Given the description of an element on the screen output the (x, y) to click on. 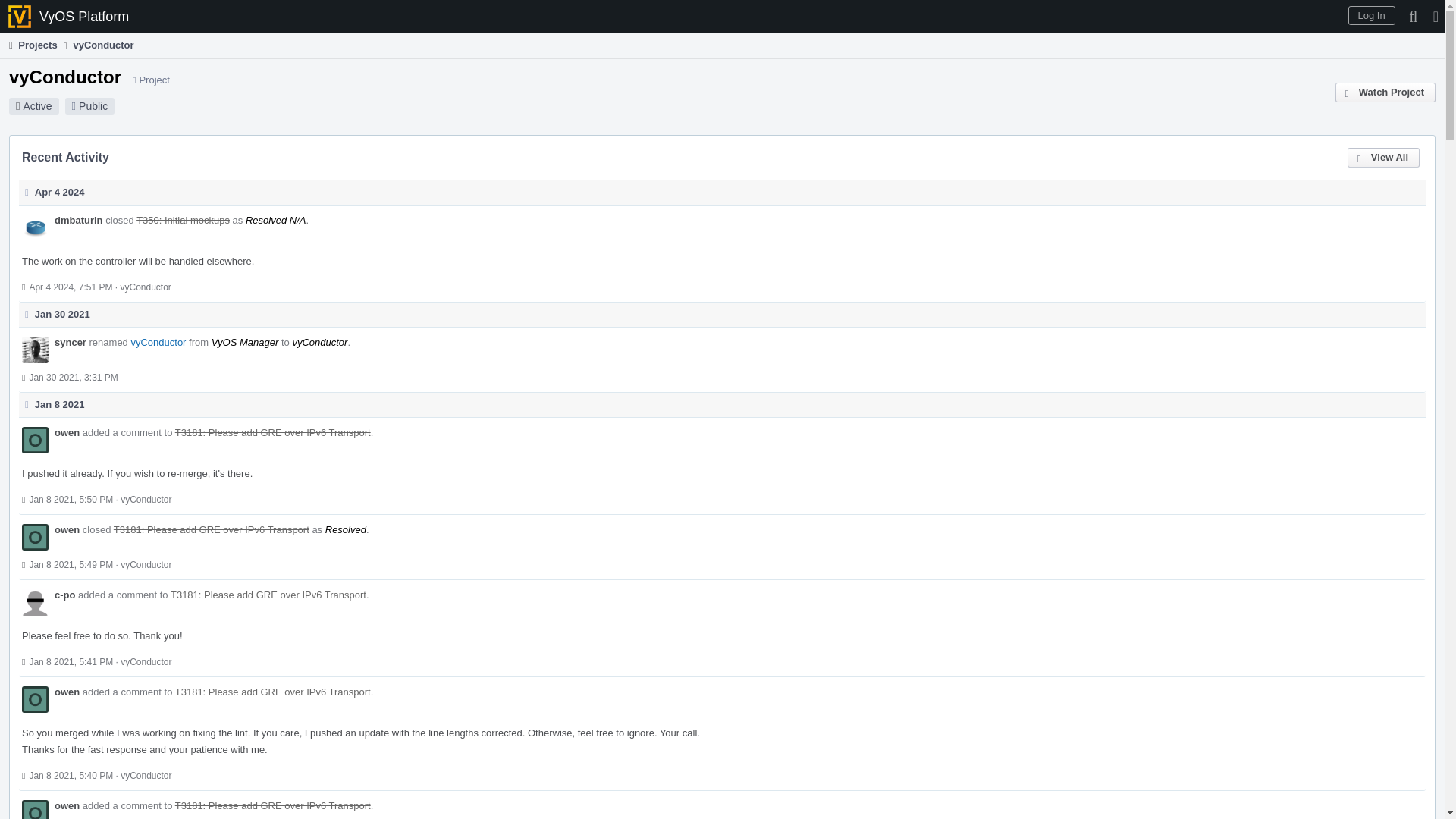
VyOS Platform (69, 16)
Public (92, 105)
Watch Project (1385, 92)
vyConductor (102, 44)
Jan 8 2021, 5:50 PM (71, 499)
owen (67, 432)
View All (1383, 157)
T3181: Please add GRE over IPv6 Transport (272, 432)
dmbaturin (79, 220)
vyConductor (144, 286)
T350: Initial mockups (183, 220)
vyConductor (158, 342)
syncer (70, 342)
Log In (1371, 15)
Jan 30 2021, 3:31 PM (73, 377)
